Given the description of an element on the screen output the (x, y) to click on. 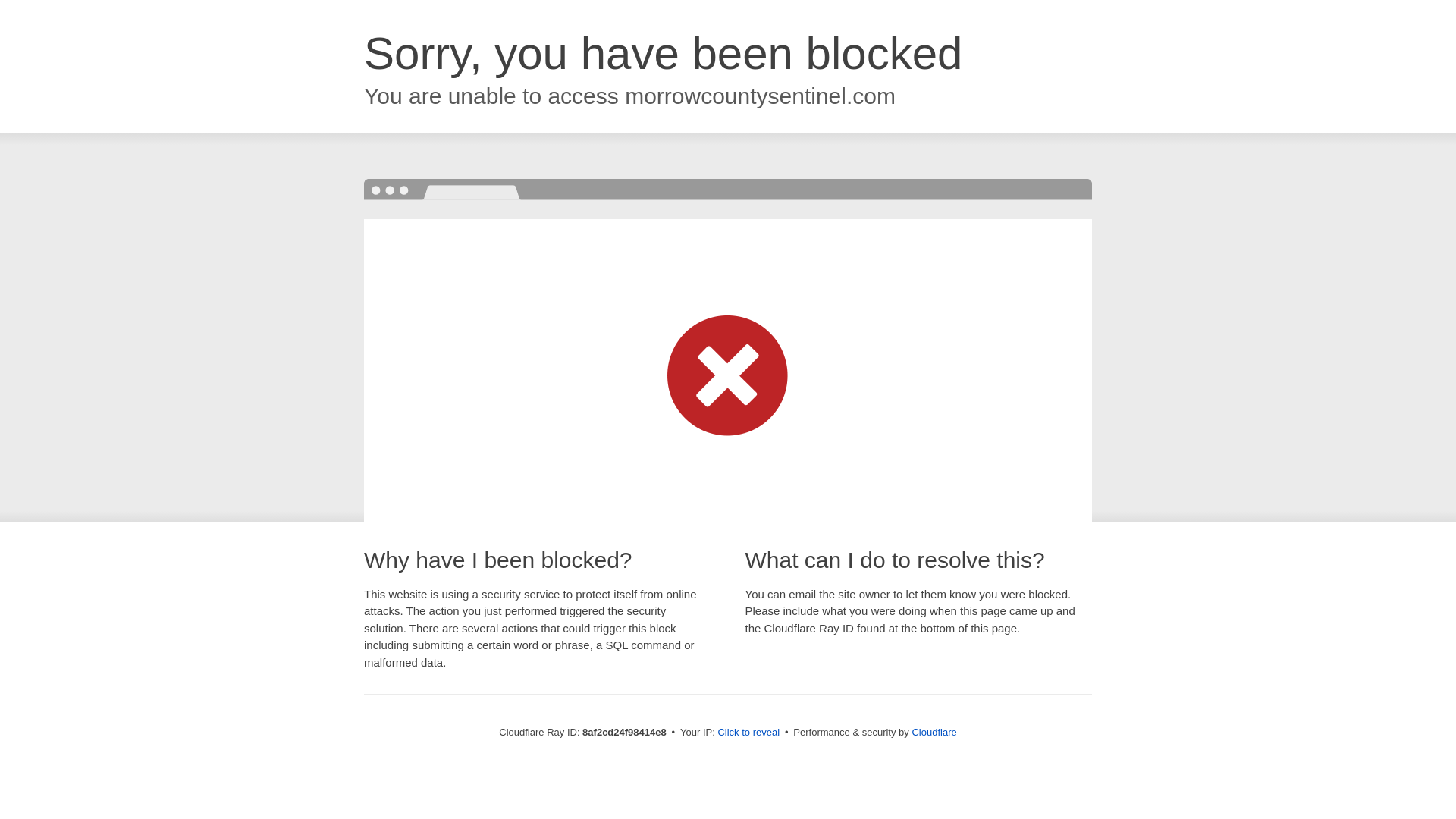
Click to reveal (747, 732)
Cloudflare (933, 731)
